Given the description of an element on the screen output the (x, y) to click on. 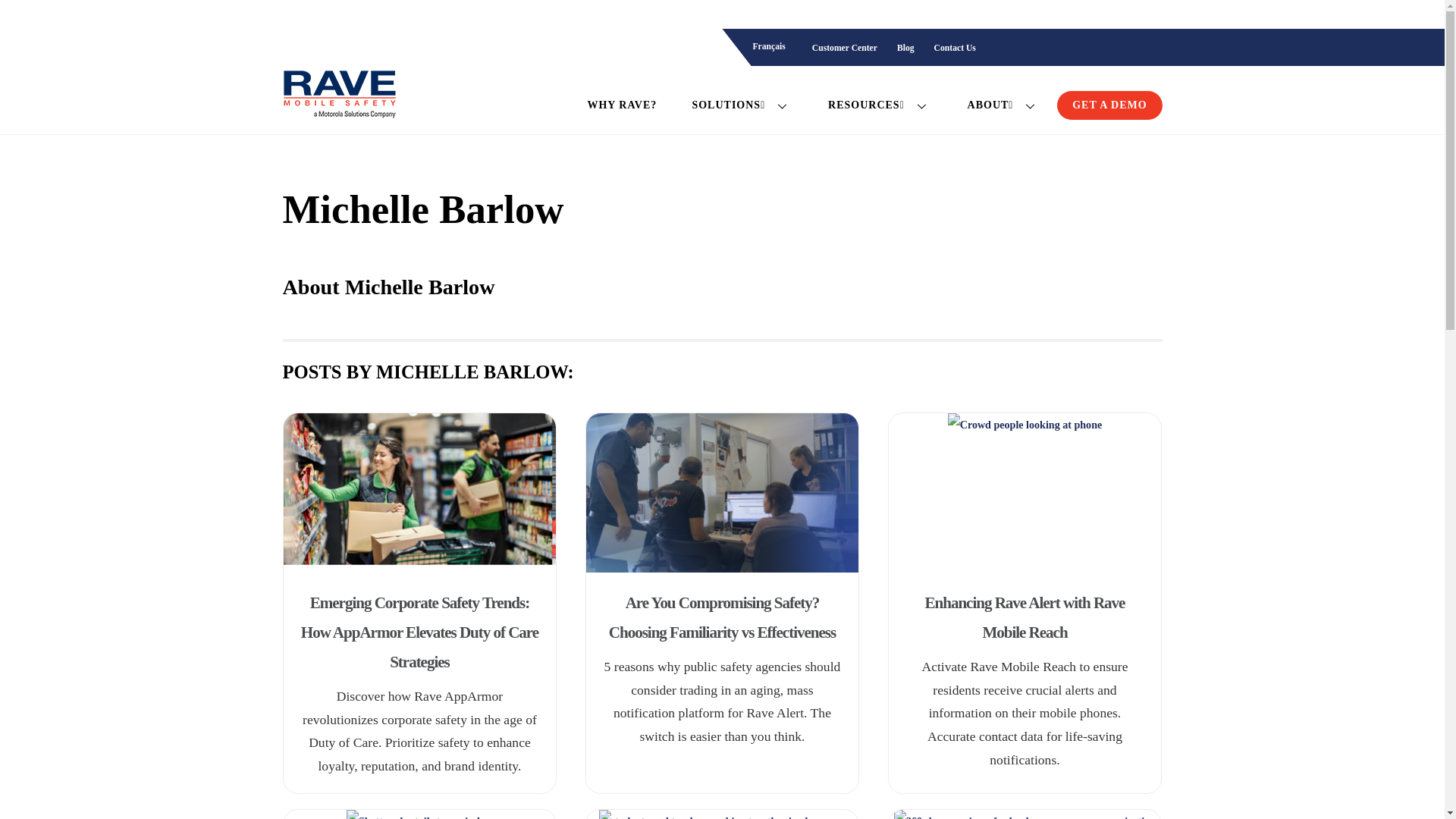
Rave-Logo-MSI-150 (339, 93)
Broken glass in a store close-up (419, 814)
Customer Center (844, 48)
employees-stocking-shelves (419, 492)
RESOURCES (880, 104)
Search (1141, 47)
Are you compromising safety? (722, 492)
SOLUTIONS (742, 104)
crowd-people-holding-phones (1024, 492)
Blog (905, 48)
